Given the description of an element on the screen output the (x, y) to click on. 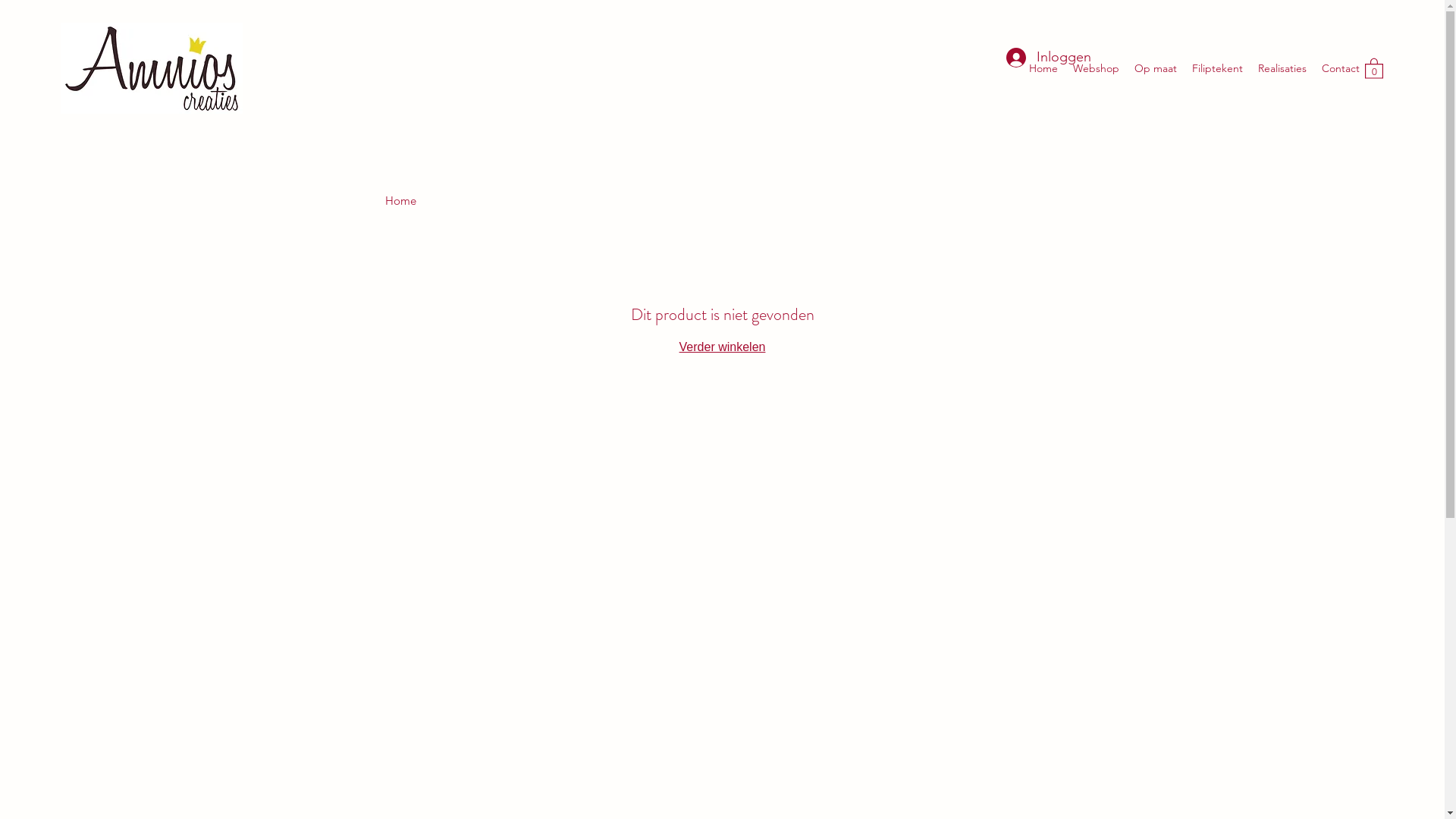
Op maat Element type: text (1155, 67)
0 Element type: text (1374, 67)
Verder winkelen Element type: text (722, 346)
Contact Element type: text (1340, 67)
Filiptekent Element type: text (1217, 67)
Home Element type: text (400, 200)
Home Element type: text (1043, 67)
Realisaties Element type: text (1282, 67)
Webshop Element type: text (1095, 67)
Inloggen Element type: text (1039, 57)
